Given the description of an element on the screen output the (x, y) to click on. 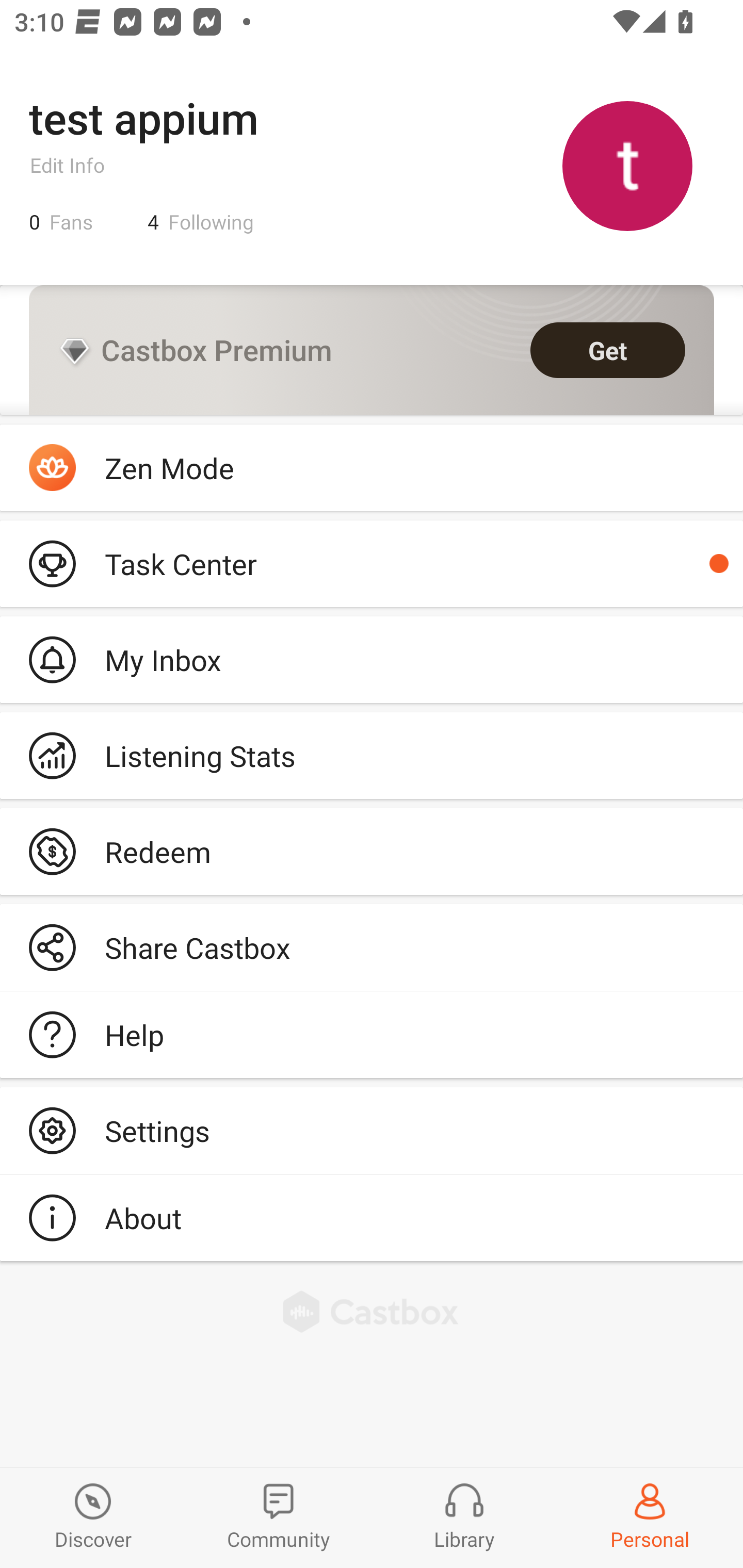
test appium Edit Info 0 Fans 4 Following (371, 165)
0 Fans (60, 221)
4 Following (200, 221)
Castbox Premium Get (371, 350)
Get (607, 350)
Zen Mode (371, 467)
Podcaster  Task Center (371, 563)
 My Inbox (371, 659)
 Listening Stats (371, 755)
 Redeem (371, 851)
 Share Castbox (371, 947)
 Help (371, 1034)
 Settings (371, 1130)
 About (371, 1217)
Discover (92, 1517)
Community (278, 1517)
Library (464, 1517)
Profiles and Settings Personal (650, 1517)
